Given the description of an element on the screen output the (x, y) to click on. 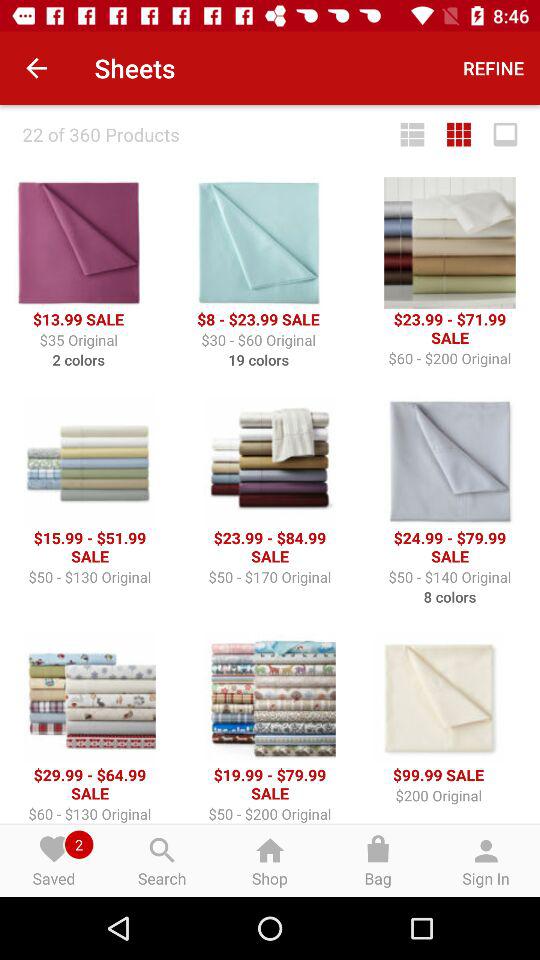
turn on icon below refine (459, 134)
